Given the description of an element on the screen output the (x, y) to click on. 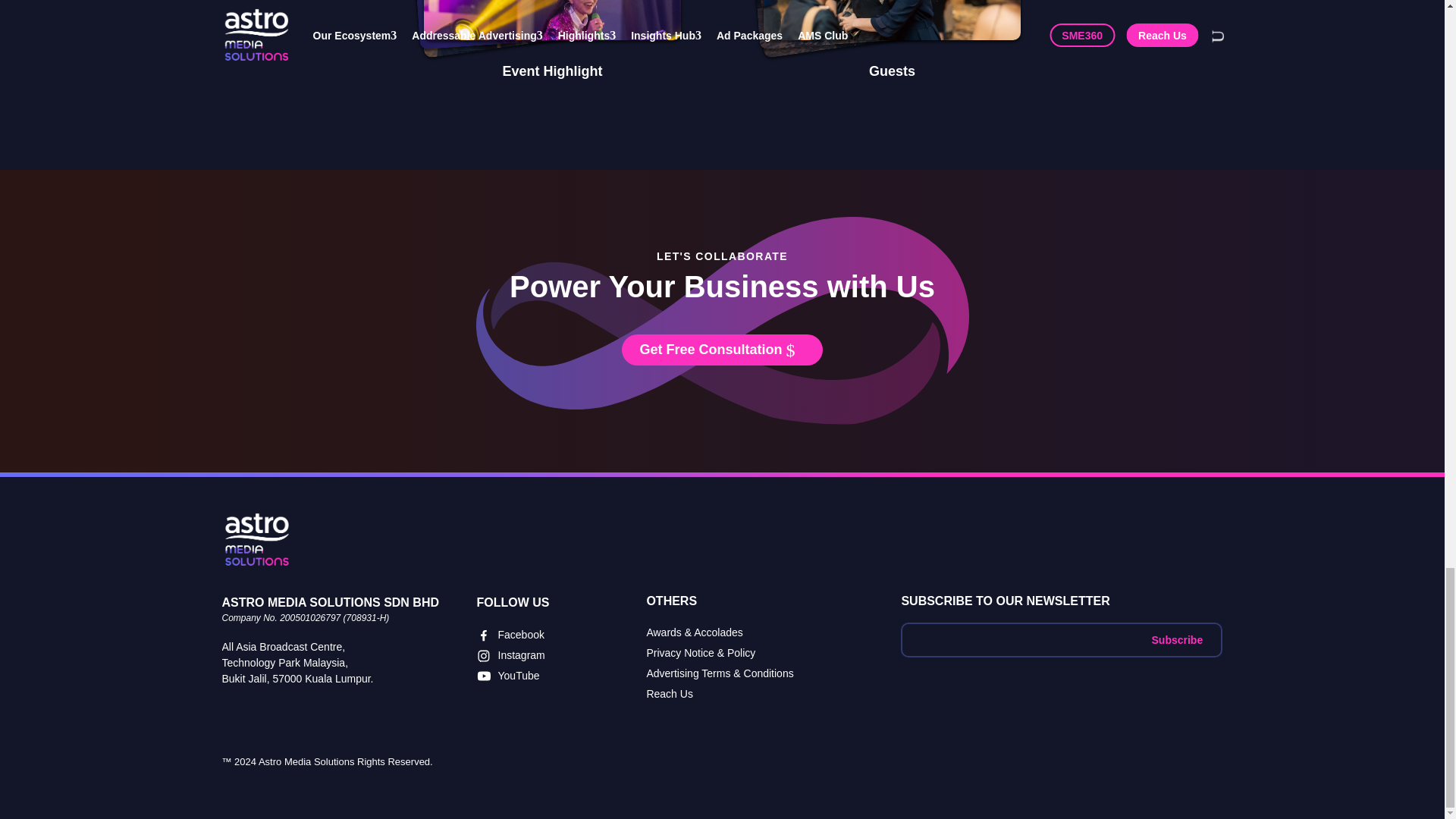
Subscribe (1177, 639)
